Given the description of an element on the screen output the (x, y) to click on. 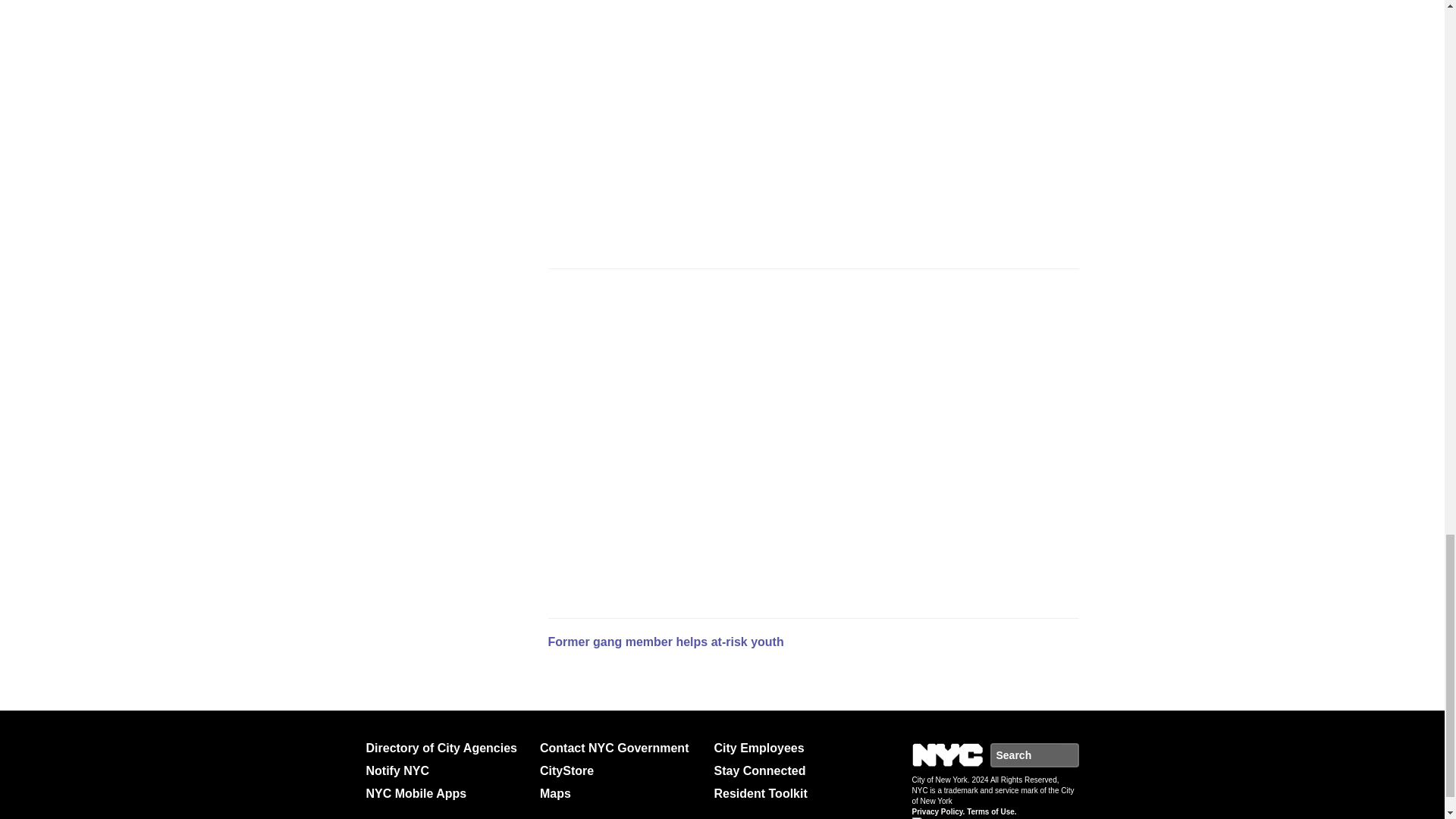
Contact NYC Government (620, 748)
City Employees (795, 748)
Privacy Ploicy  (925, 818)
Terms of Use (951, 815)
CityStore (620, 771)
Notify NYC (446, 771)
Directory of City Agencies (446, 748)
Former gang member helps at-risk youth (665, 641)
